Given the description of an element on the screen output the (x, y) to click on. 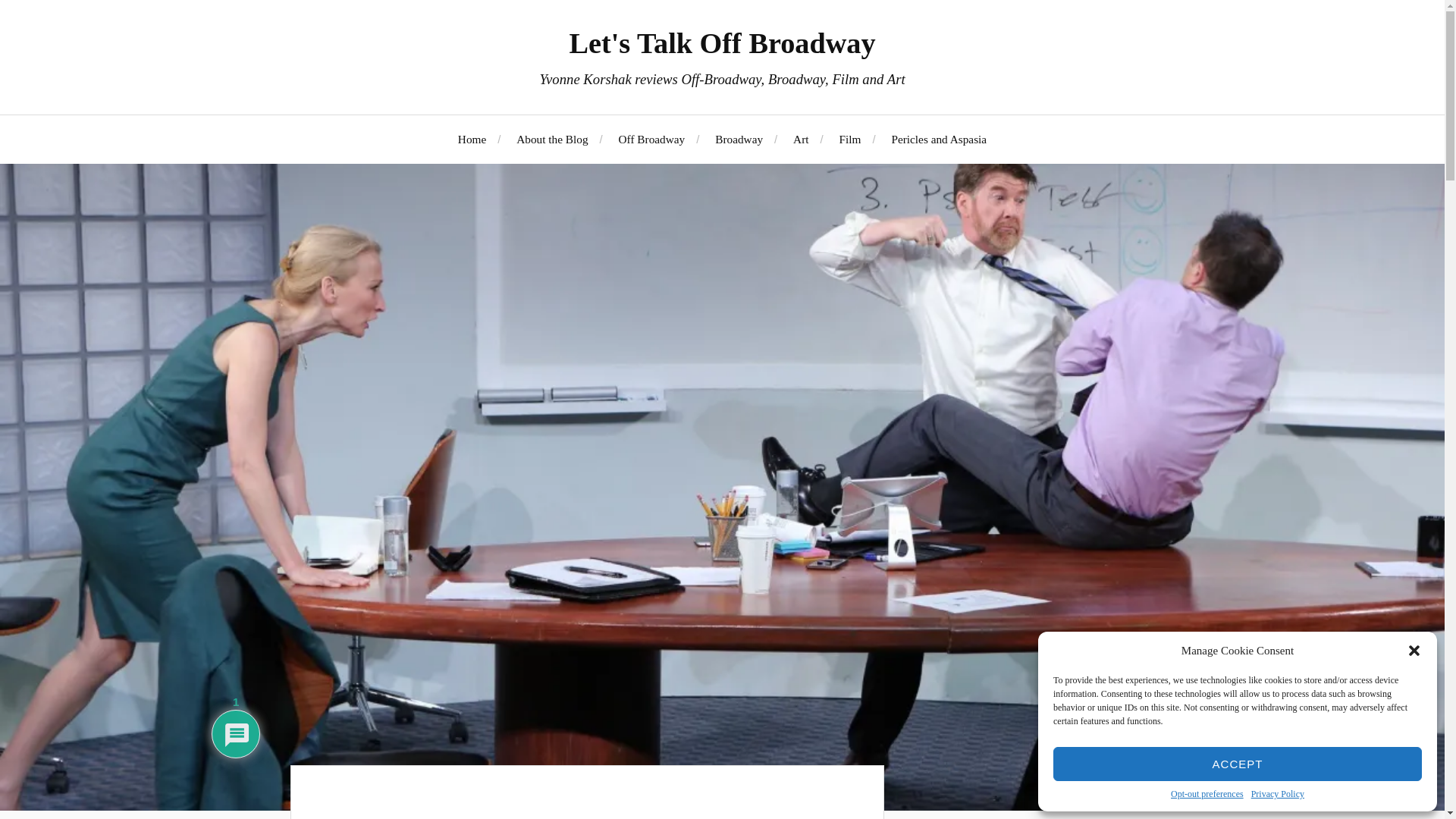
Pericles and Aspasia (939, 138)
Privacy Policy (1277, 794)
Let's Talk Off Broadway (722, 42)
Off Broadway (651, 138)
ACCEPT (1237, 763)
Broadway (738, 138)
Opt-out preferences (1206, 794)
About the Blog (552, 138)
